Given the description of an element on the screen output the (x, y) to click on. 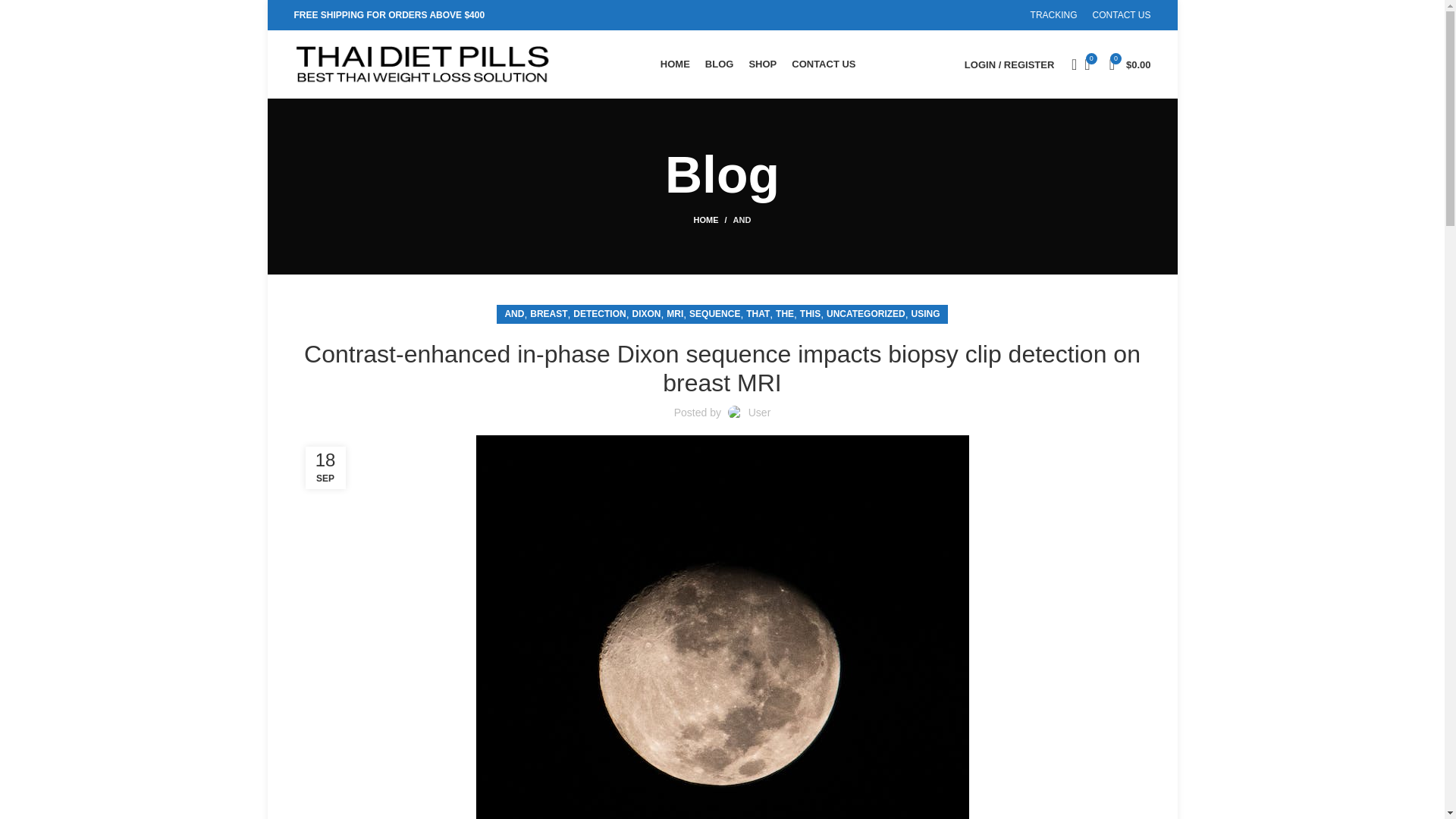
AND (742, 219)
SHOP (762, 64)
HOME (675, 64)
THE (784, 313)
BREAST (548, 313)
UNCATEGORIZED (866, 313)
HOME (713, 219)
THIS (810, 313)
SEQUENCE (713, 313)
Shopping cart (1130, 64)
